Given the description of an element on the screen output the (x, y) to click on. 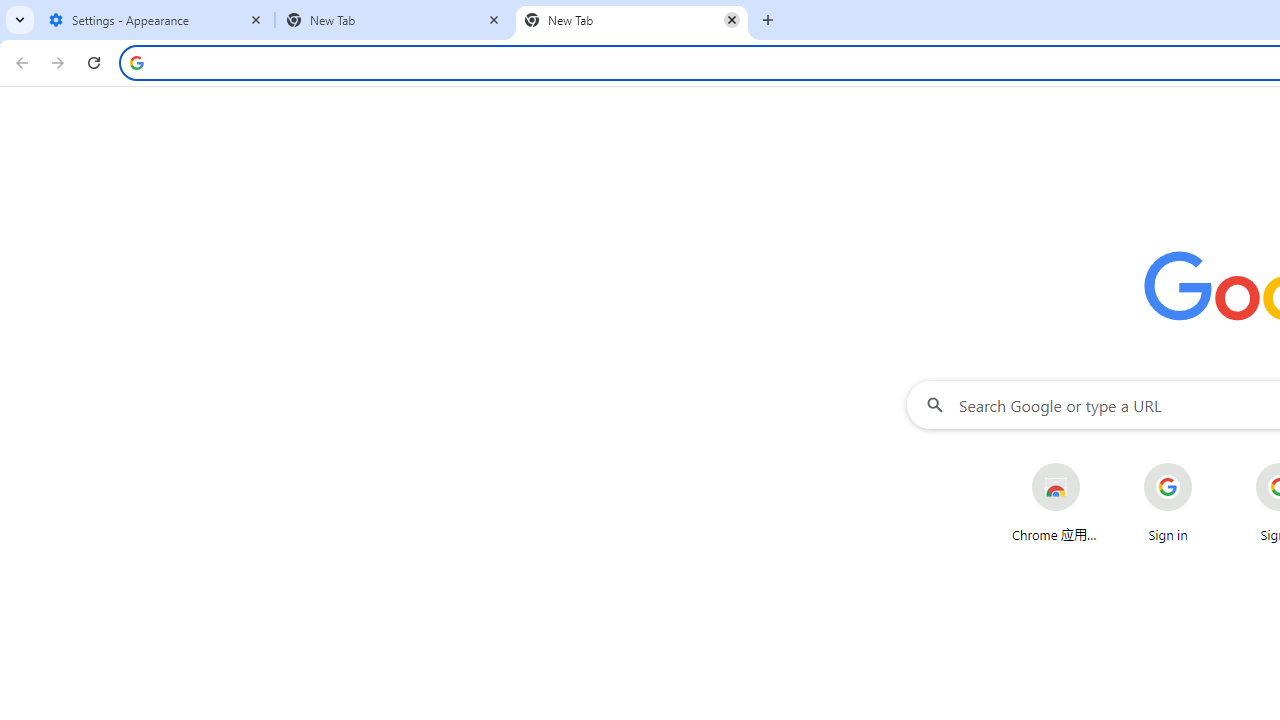
More actions for Sign in shortcut (1208, 464)
New Tab (632, 20)
Settings - Appearance (156, 20)
